Given the description of an element on the screen output the (x, y) to click on. 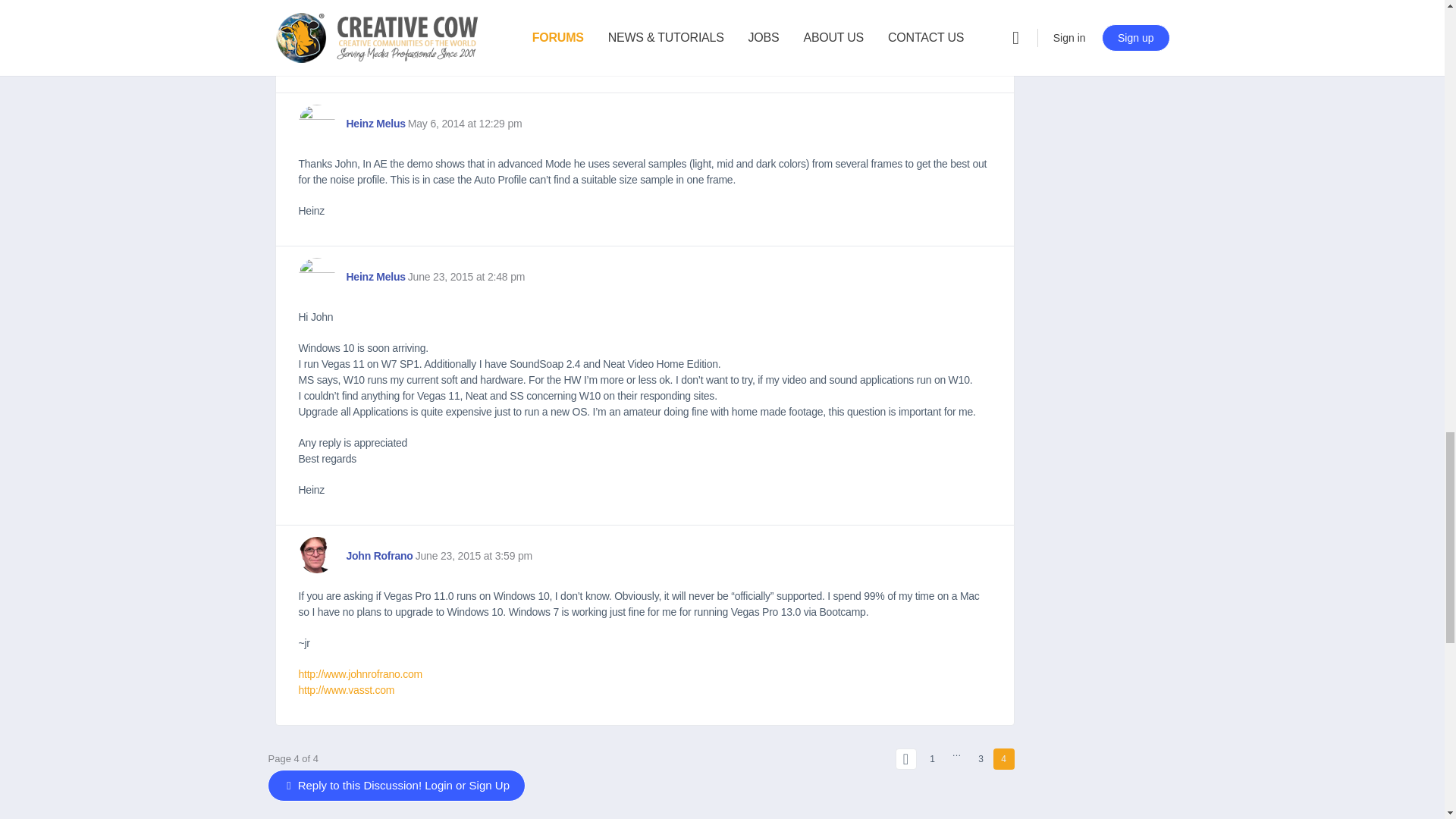
View John Rofrano's profile (379, 555)
View John Rofrano's profile (316, 555)
View Heinz Melus's profile (316, 275)
View Heinz Melus's profile (375, 123)
View Heinz Melus's profile (316, 122)
View Heinz Melus's profile (375, 277)
